Given the description of an element on the screen output the (x, y) to click on. 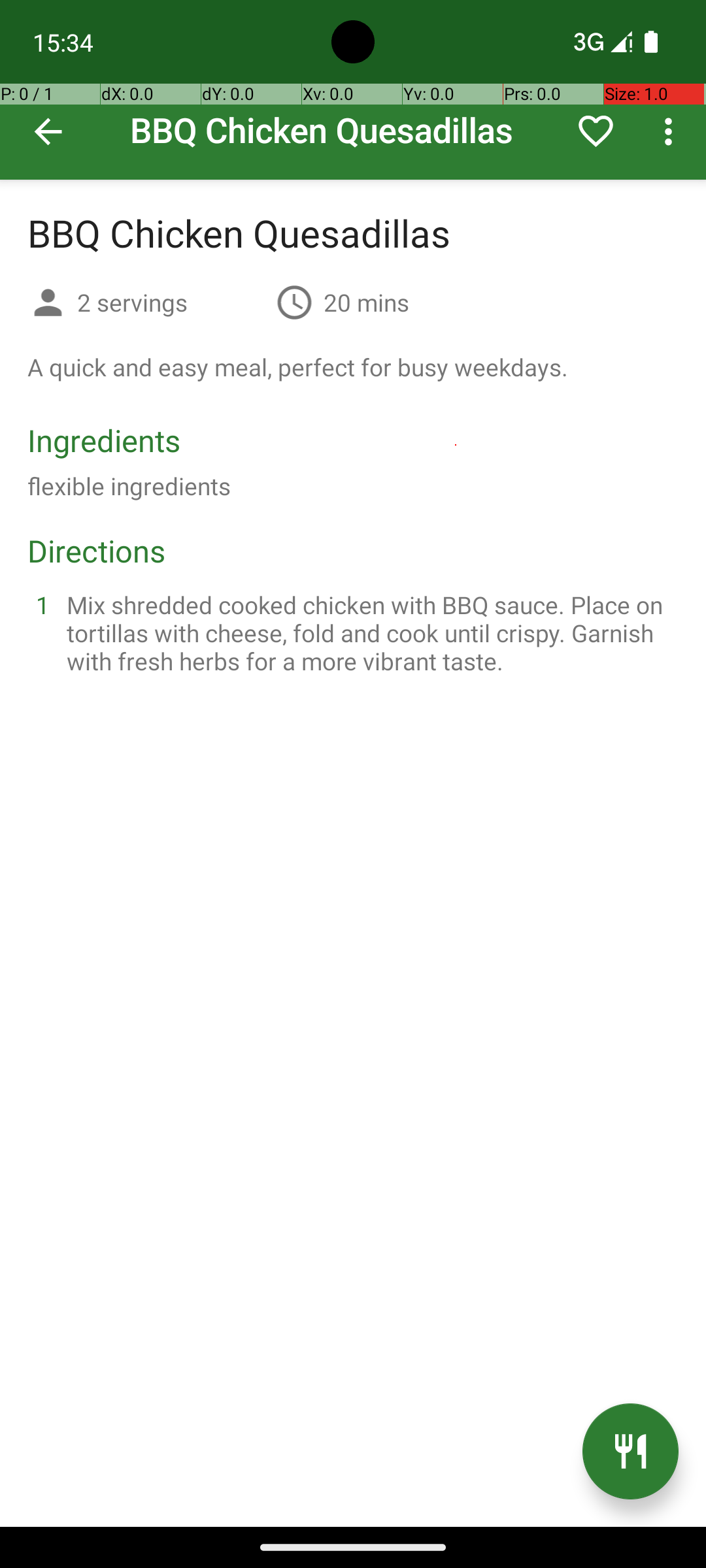
BBQ Chicken Quesadillas Element type: android.widget.FrameLayout (353, 89)
2 servings Element type: android.widget.TextView (170, 301)
20 mins Element type: android.widget.TextView (366, 301)
flexible ingredients Element type: android.widget.TextView (128, 485)
Mix shredded cooked chicken with BBQ sauce. Place on tortillas with cheese, fold and cook until crispy. Garnish with fresh herbs for a more vibrant taste. Element type: android.widget.TextView (368, 632)
